Given the description of an element on the screen output the (x, y) to click on. 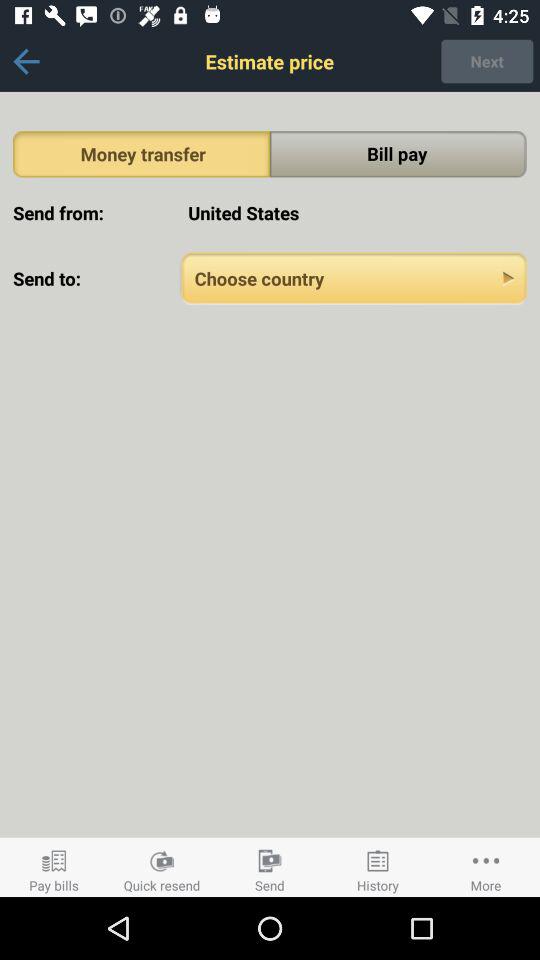
click on choose country (354, 278)
